Given the description of an element on the screen output the (x, y) to click on. 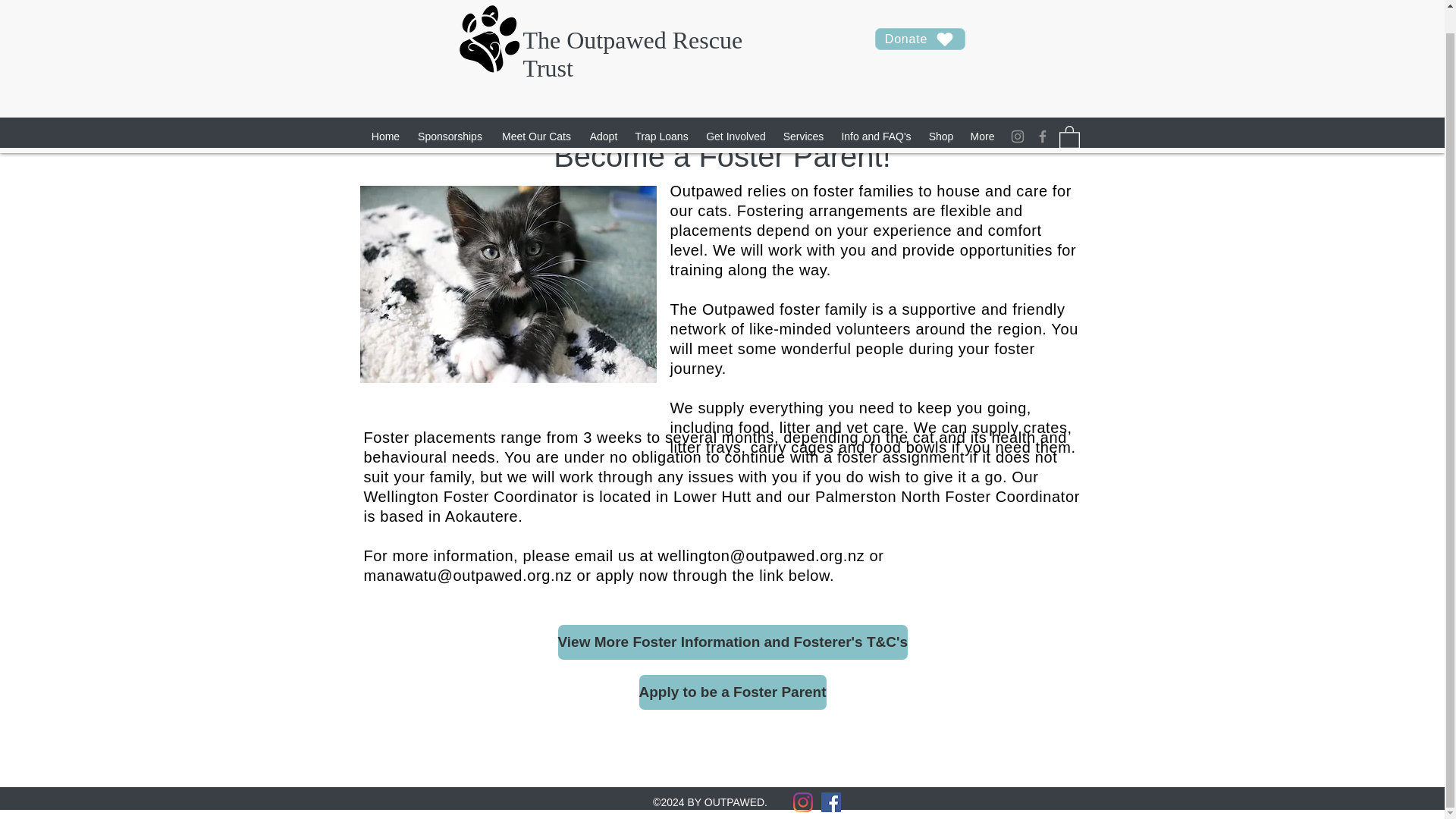
Trap Loans (661, 112)
Shop (940, 112)
Services (802, 112)
Get Involved (735, 112)
The Outpawed Rescue Trust (632, 30)
Sponsorships (449, 112)
Donate (920, 15)
Home (384, 112)
Apply to be a Foster Parent (732, 692)
